Given the description of an element on the screen output the (x, y) to click on. 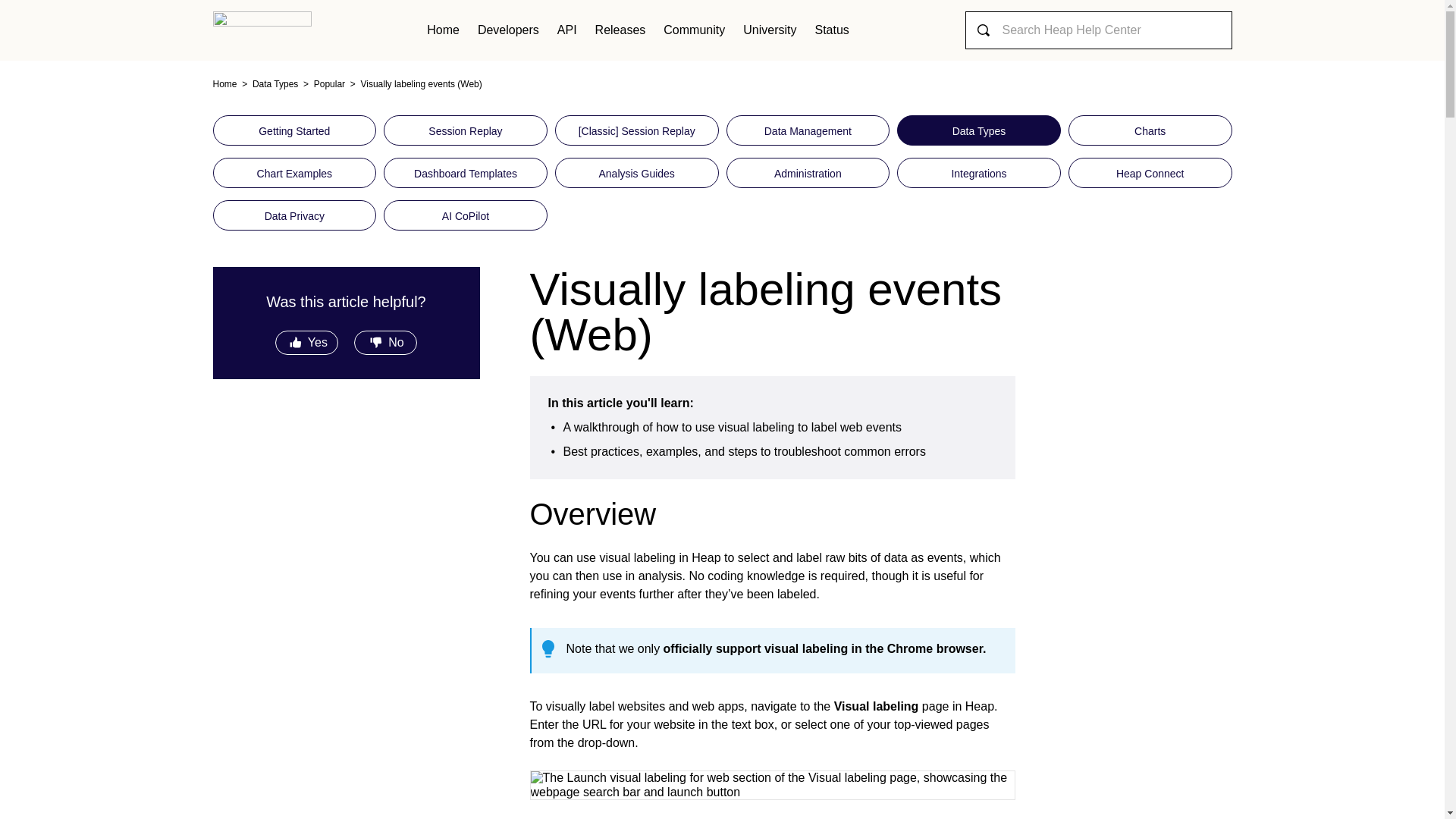
Chart Examples (293, 173)
Data Types (269, 83)
Developers (508, 29)
Popular (323, 83)
Home (223, 83)
Getting Started (293, 130)
Administration (807, 173)
Charts (1149, 130)
Session Replay (465, 130)
Community (693, 29)
